Given the description of an element on the screen output the (x, y) to click on. 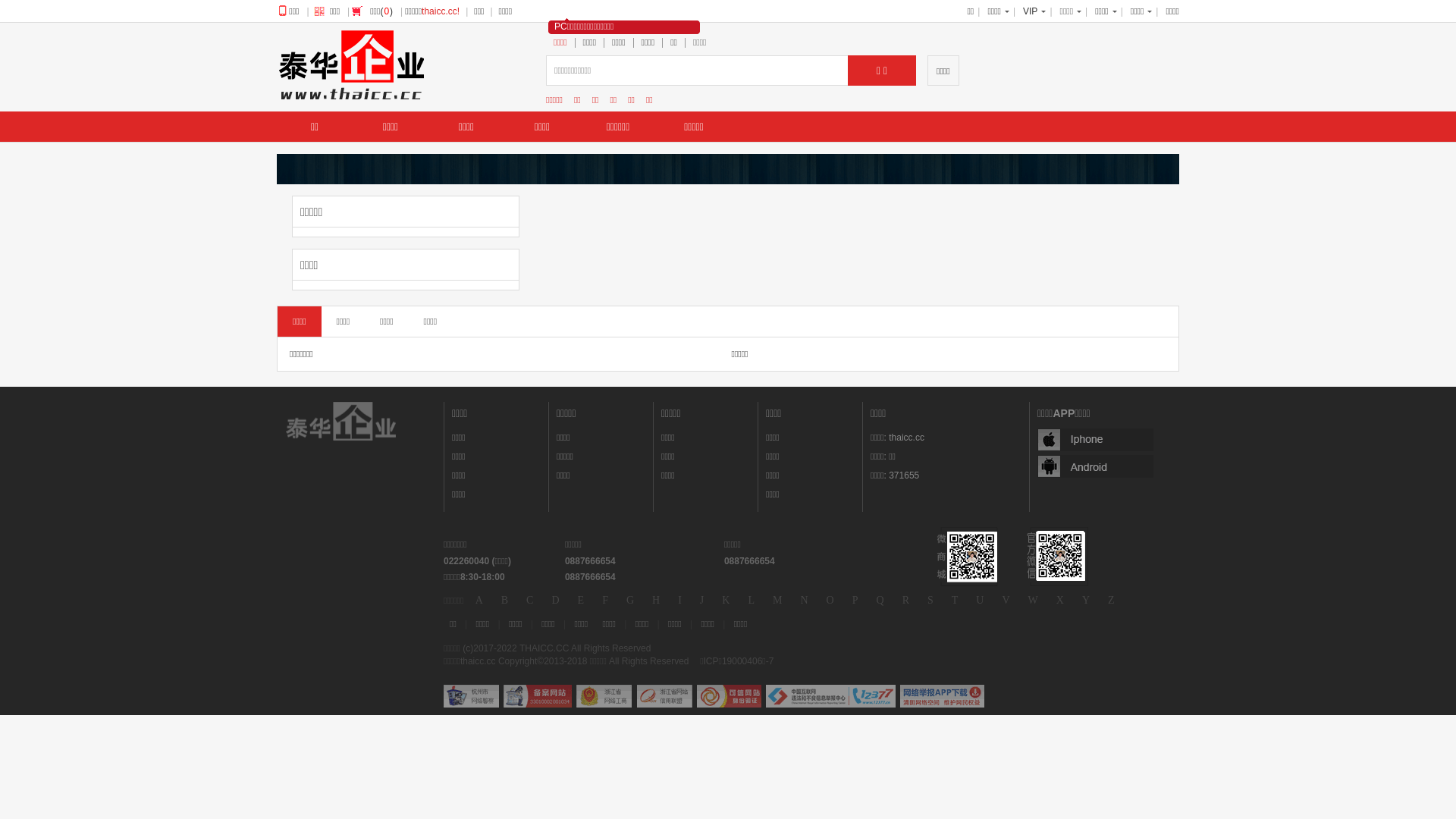
Q Element type: text (880, 600)
D Element type: text (554, 600)
V Element type: text (1005, 600)
S Element type: text (930, 600)
A Element type: text (478, 600)
Y Element type: text (1085, 600)
E Element type: text (581, 600)
H Element type: text (655, 600)
F Element type: text (604, 600)
M Element type: text (777, 600)
L Element type: text (751, 600)
X Element type: text (1059, 600)
J Element type: text (701, 600)
B Element type: text (504, 600)
G Element type: text (629, 600)
K Element type: text (725, 600)
O Element type: text (830, 600)
W Element type: text (1032, 600)
Z Element type: text (1111, 600)
VIP Element type: text (1029, 11)
N Element type: text (803, 600)
T Element type: text (955, 600)
I Element type: text (679, 600)
thaicc.cc Element type: text (906, 437)
P Element type: text (854, 600)
U Element type: text (979, 600)
C Element type: text (529, 600)
R Element type: text (905, 600)
